Given the description of an element on the screen output the (x, y) to click on. 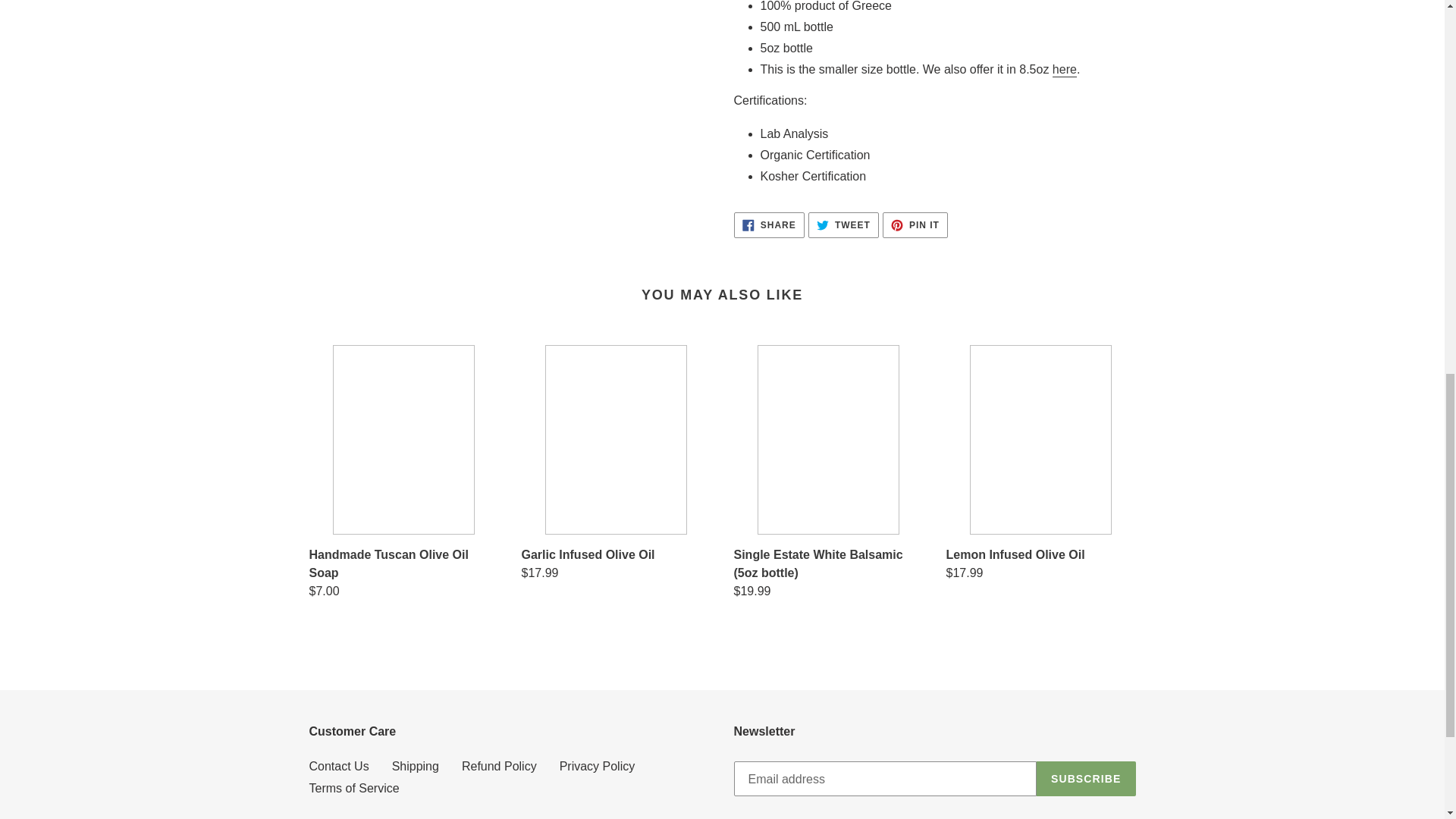
Greek Olive Oil 8.5oz (1064, 69)
